Given the description of an element on the screen output the (x, y) to click on. 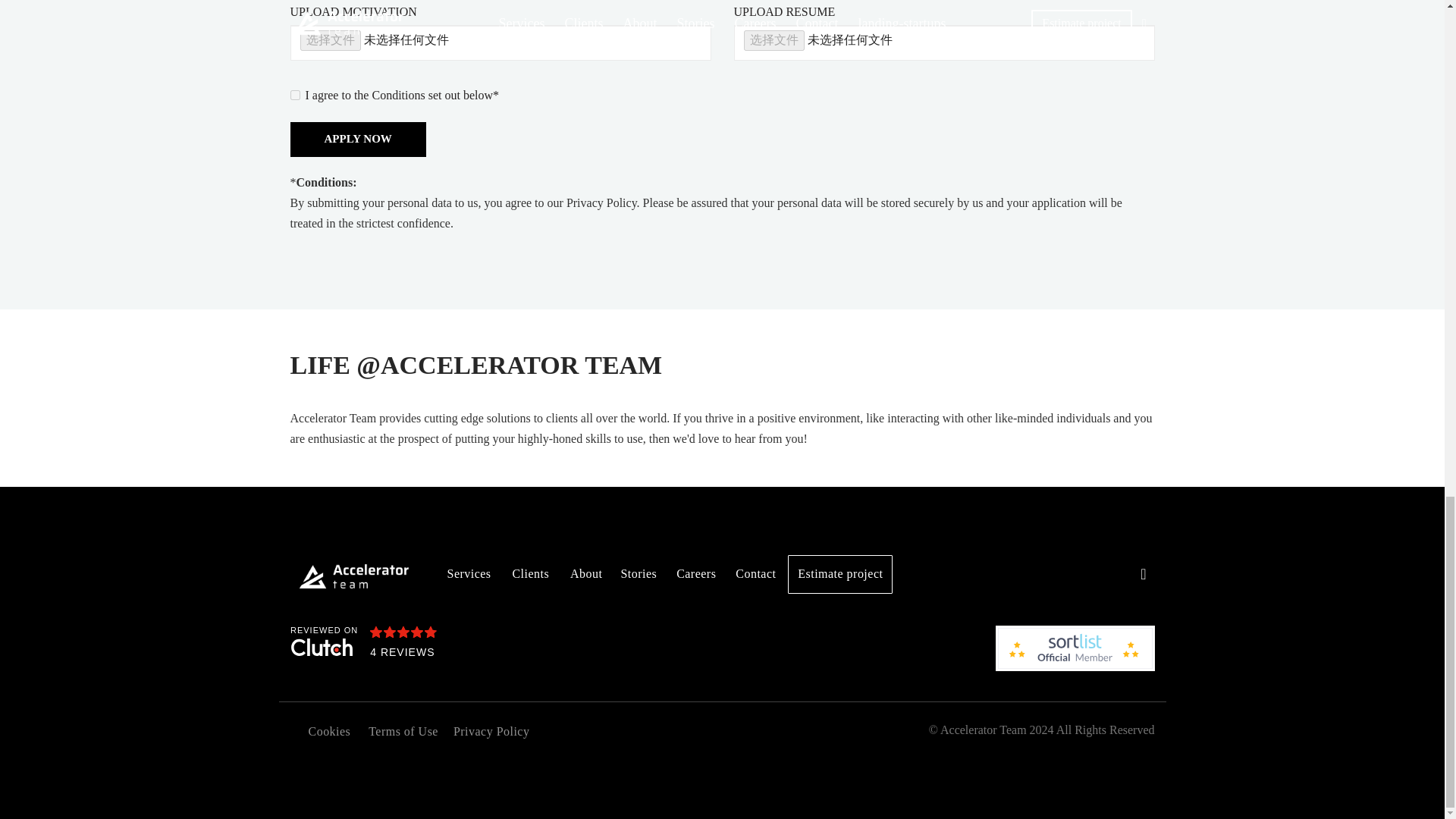
Services (469, 573)
About (585, 573)
loaded2 Dark (499, 642)
Clients (529, 573)
Estimate project (839, 573)
Privacy Policy (491, 731)
Cookies (323, 731)
Careers (695, 573)
Terms of Use (403, 731)
Stories (638, 573)
